Given the description of an element on the screen output the (x, y) to click on. 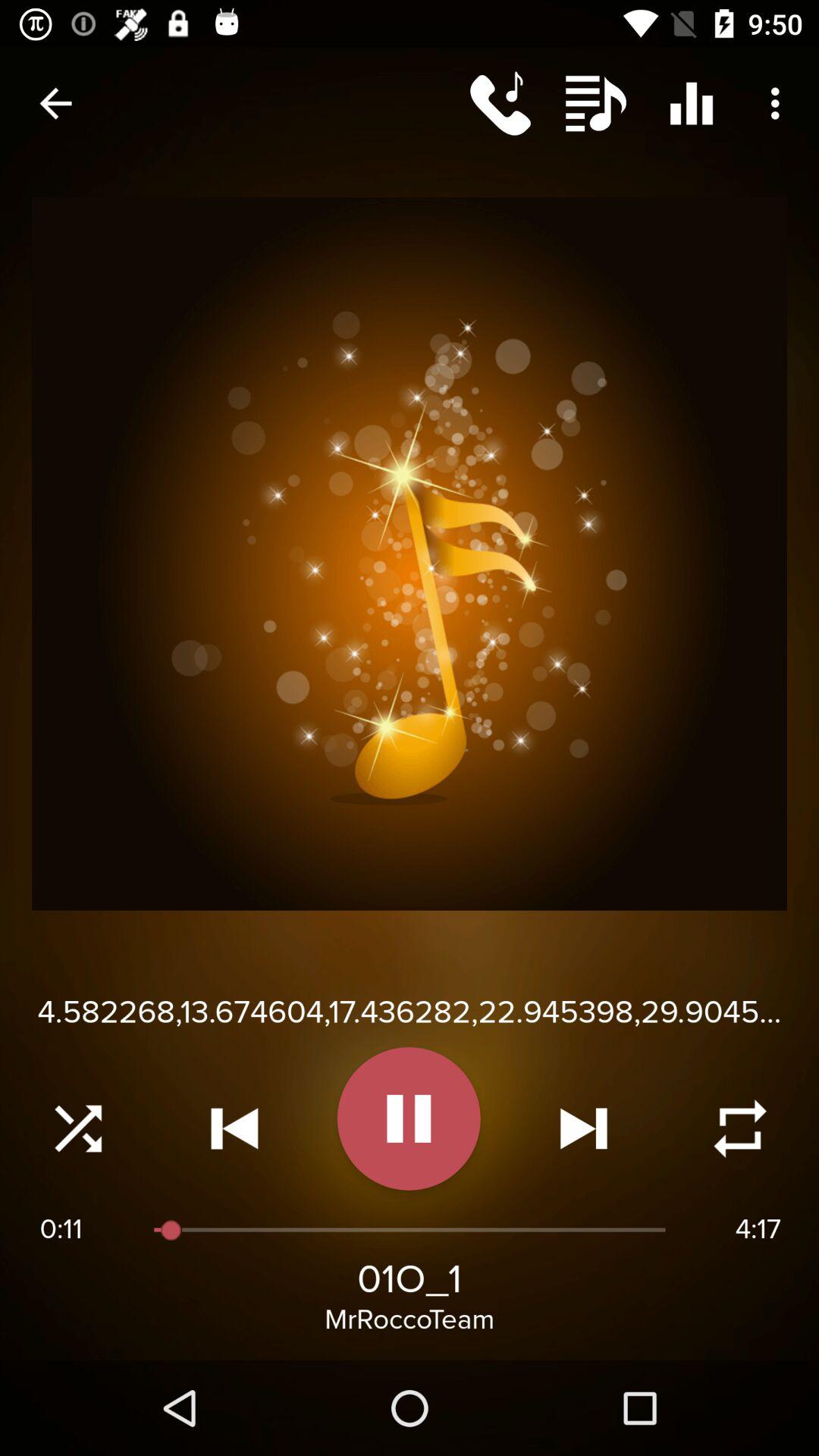
rewind audio (234, 1128)
